Given the description of an element on the screen output the (x, y) to click on. 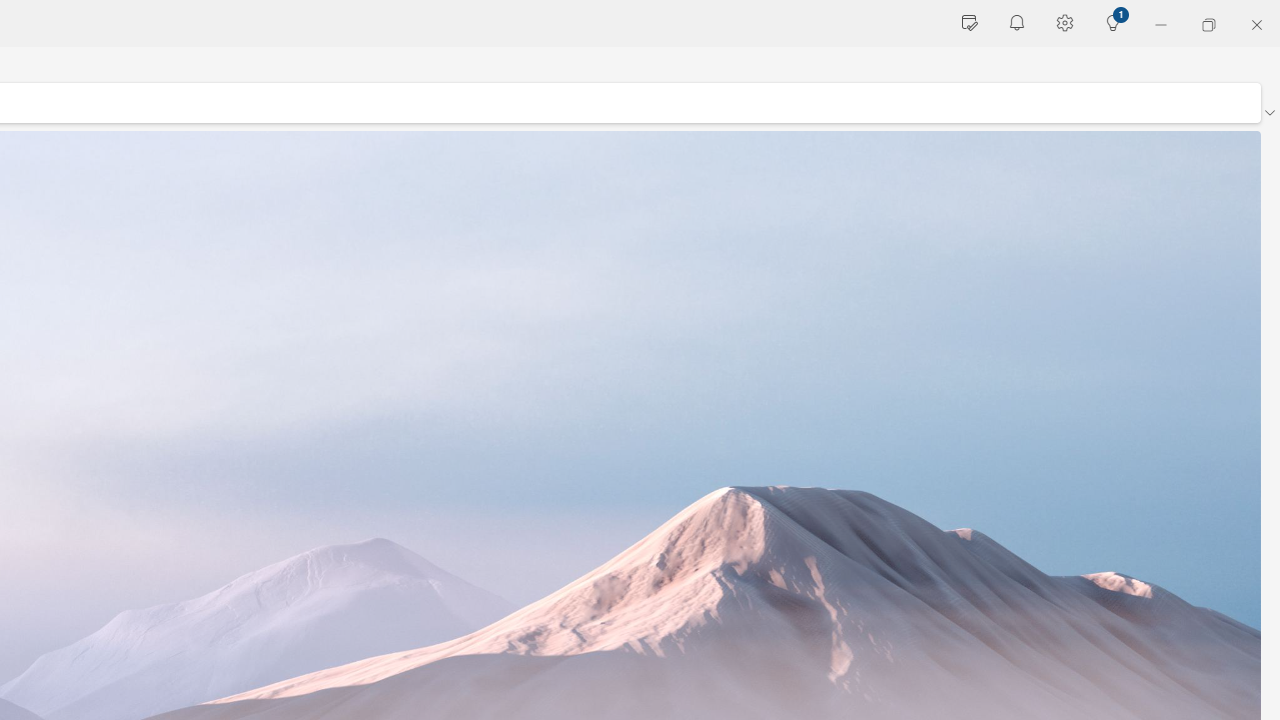
Ribbon display options (1269, 112)
